Given the description of an element on the screen output the (x, y) to click on. 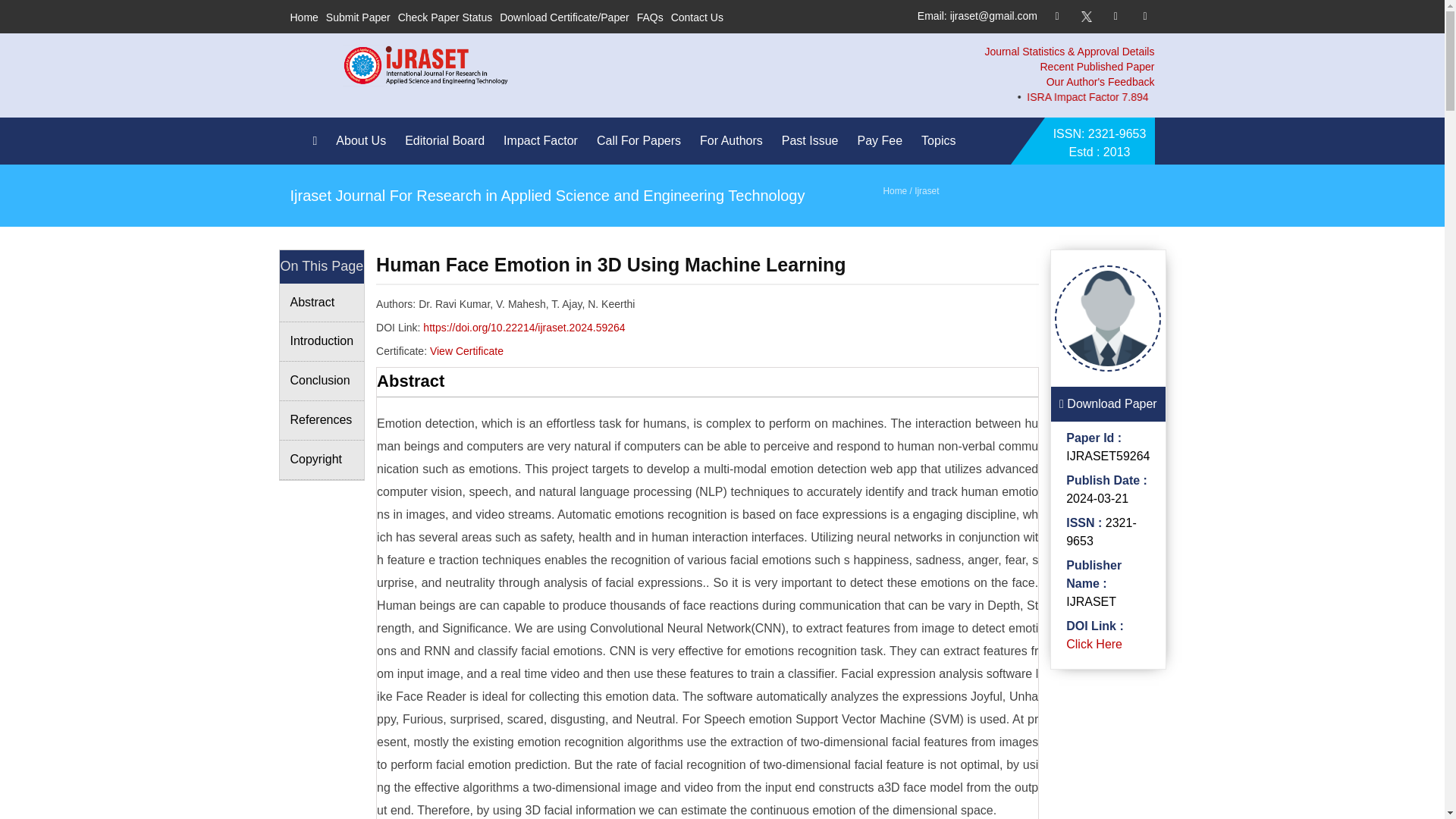
Our Author's Feedback (1100, 82)
Impact Factor (544, 140)
References (321, 420)
About Us (364, 140)
Introduction (321, 341)
Editorial Board (448, 140)
Copyright (321, 459)
 ISRA Impact Factor 7.894 (1205, 96)
FAQs (650, 17)
Home (303, 17)
Call For Papers (642, 140)
 SJIF Impact Factor: 7.538 (1371, 96)
Submit Paper (358, 17)
Check Paper Status (445, 17)
Abstract (321, 302)
